Given the description of an element on the screen output the (x, y) to click on. 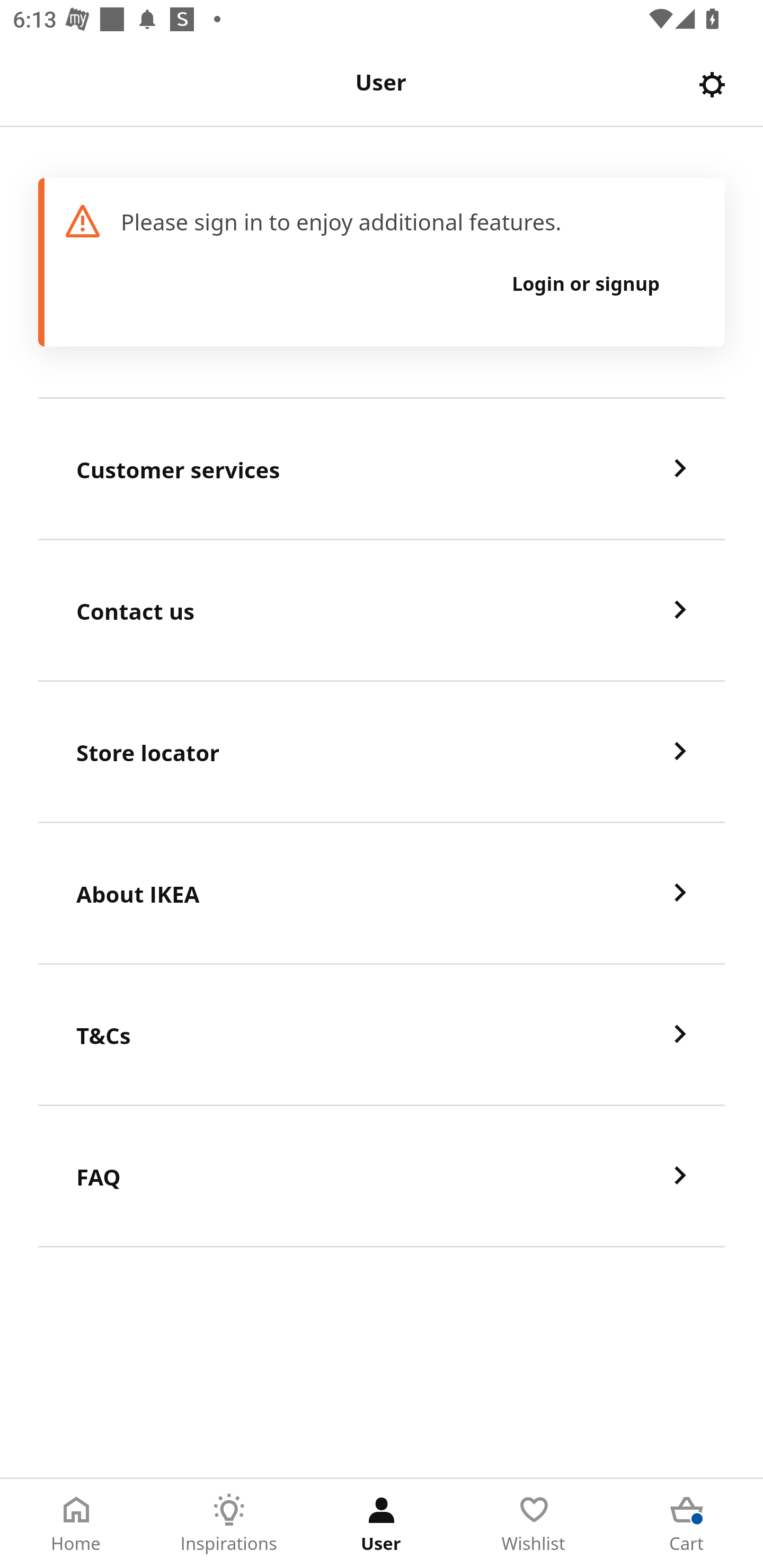
Login or signup (586, 282)
Customer services (381, 469)
Contact us (381, 611)
Store locator (381, 752)
About IKEA (381, 893)
T&Cs (381, 1034)
FAQ (381, 1176)
Home
Tab 1 of 5 (76, 1522)
Inspirations
Tab 2 of 5 (228, 1522)
User
Tab 3 of 5 (381, 1522)
Wishlist
Tab 4 of 5 (533, 1522)
Cart
Tab 5 of 5 (686, 1522)
